Given the description of an element on the screen output the (x, y) to click on. 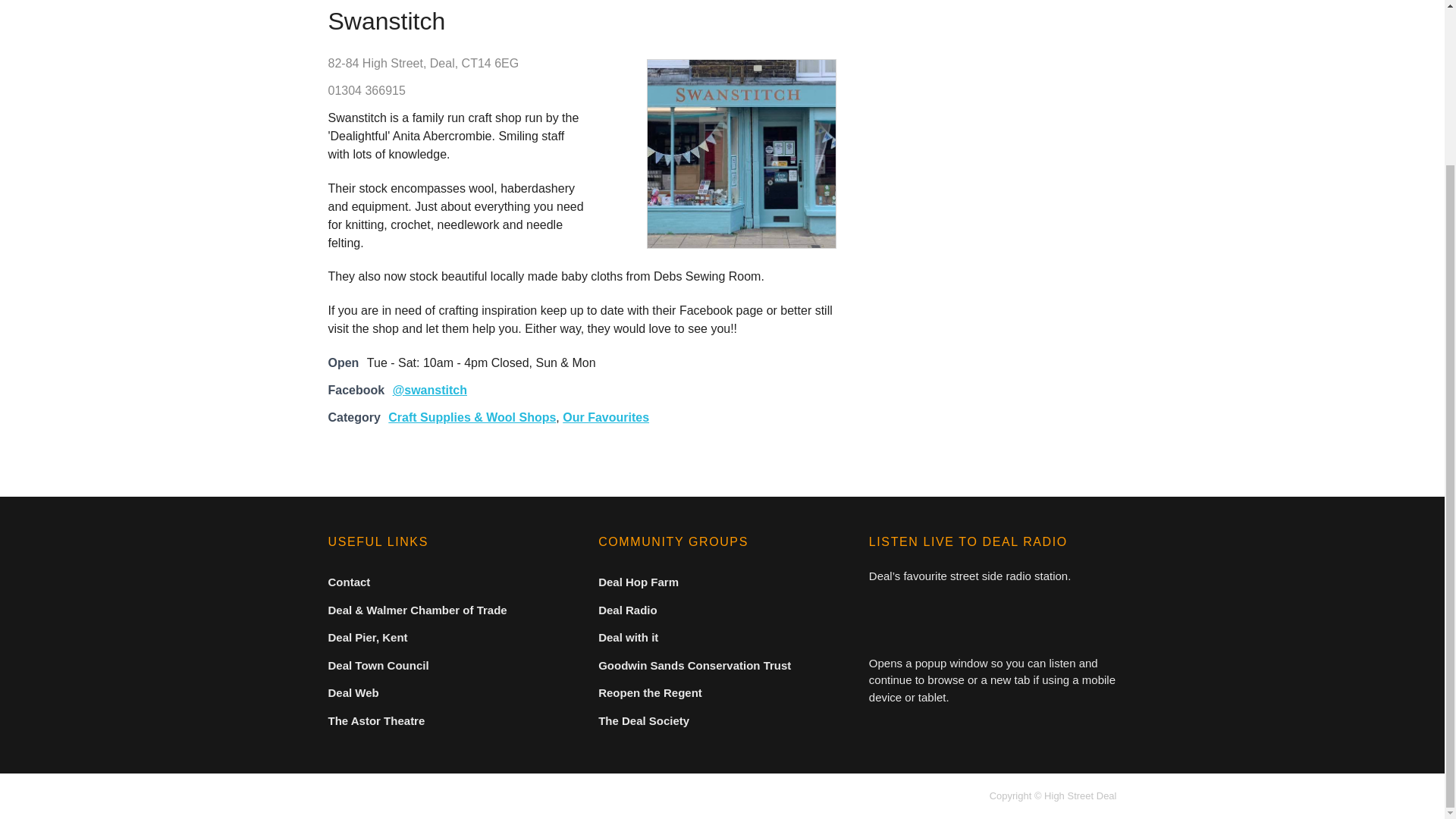
Deal and Walmer Chamber of Trade (416, 609)
Deal Hop Farm (638, 581)
Deal with it (628, 636)
Deal Pier, Kent (367, 636)
Community website for Deal (352, 692)
The Astor Theatre (376, 720)
Deal Town Council (377, 665)
Deal Pier website (367, 636)
